Given the description of an element on the screen output the (x, y) to click on. 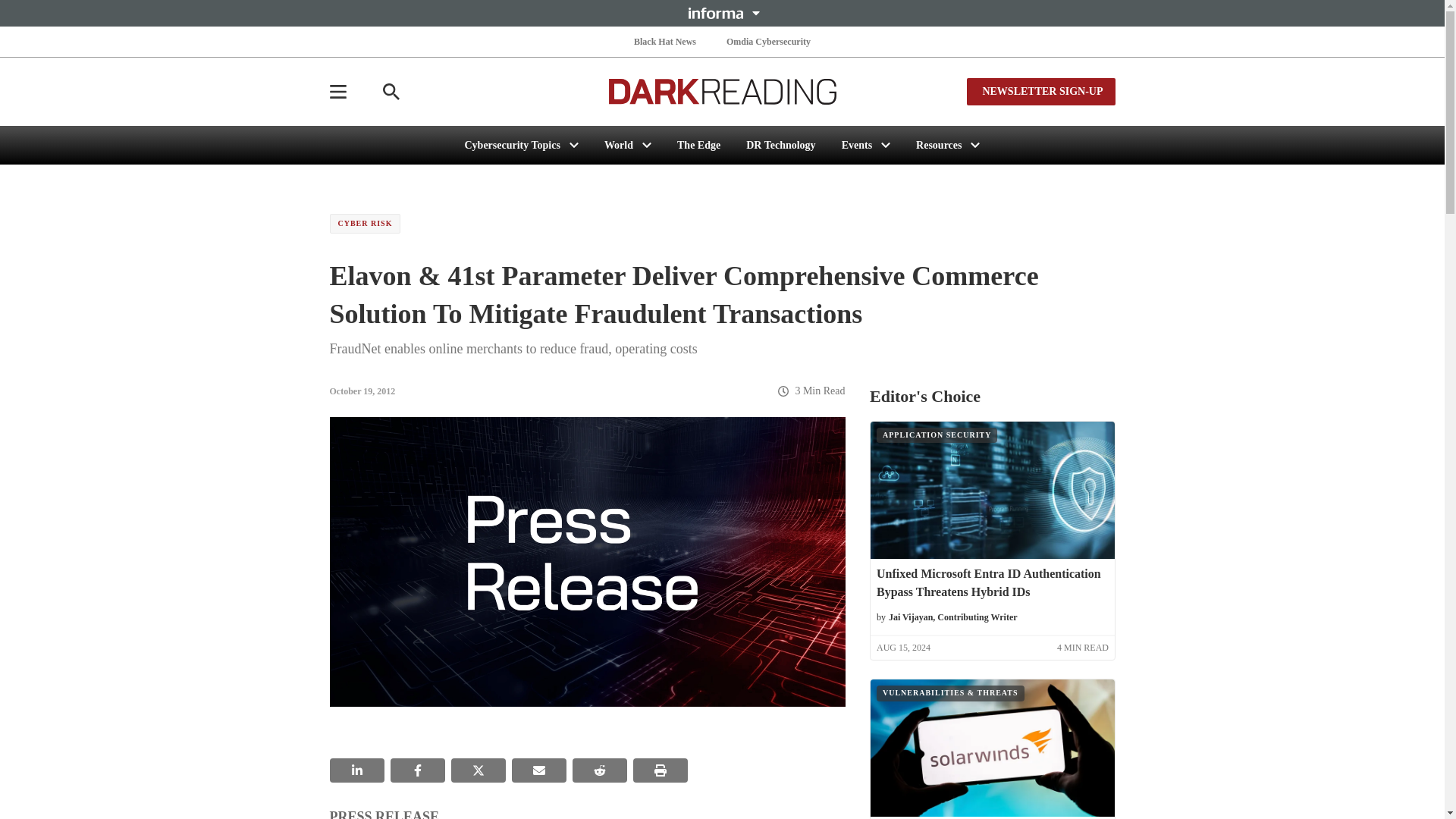
Omdia Cybersecurity (768, 41)
Dark Reading Logo (721, 91)
Black Hat News (664, 41)
NEWSLETTER SIGN-UP (1040, 90)
